Given the description of an element on the screen output the (x, y) to click on. 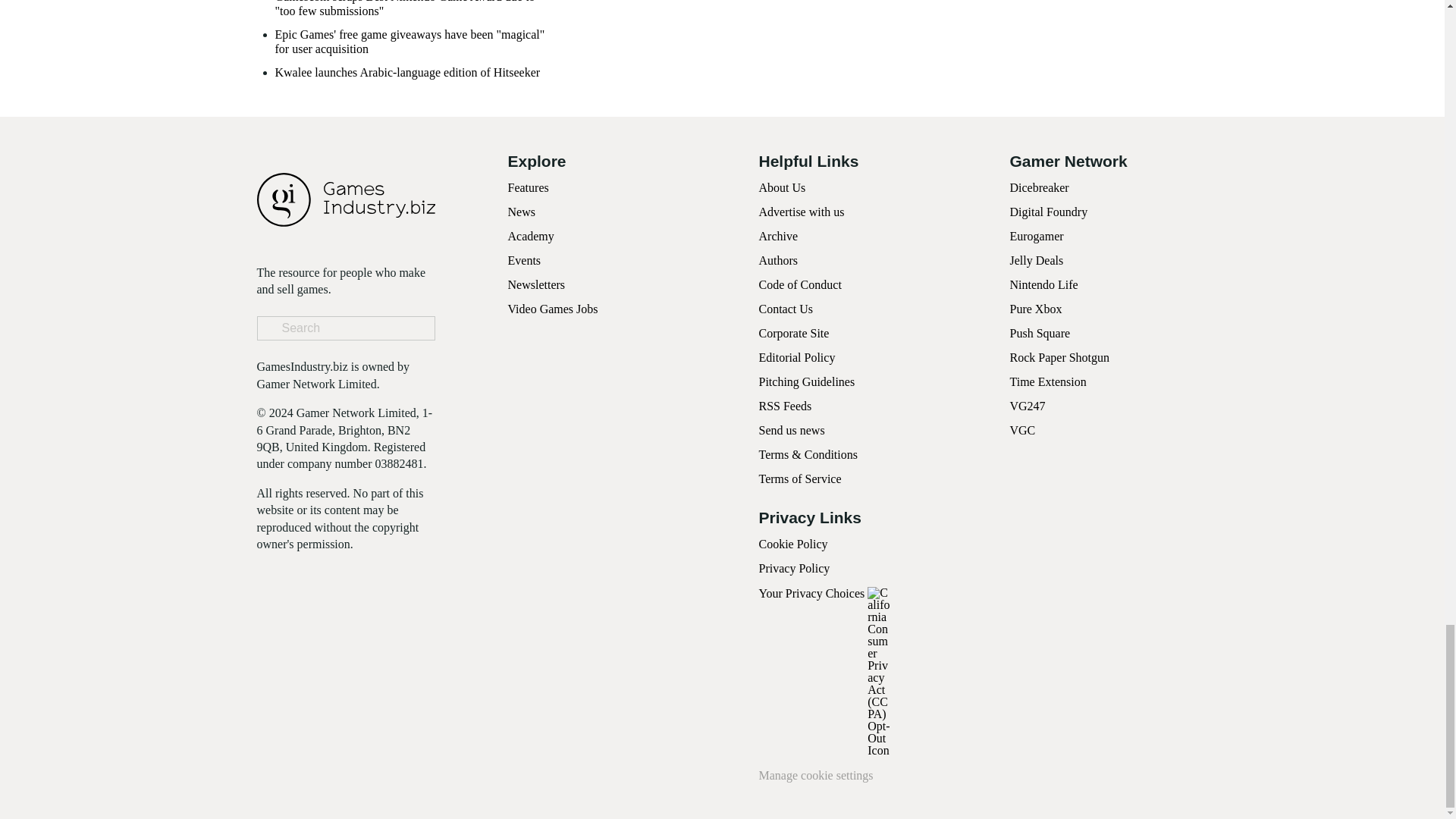
Advertise with us (801, 211)
Kwalee launches Arabic-language edition of Hitseeker (407, 72)
Features (528, 187)
Academy (531, 236)
News (521, 211)
Newsletters (537, 284)
Video Games Jobs (553, 308)
Events (524, 259)
